Given the description of an element on the screen output the (x, y) to click on. 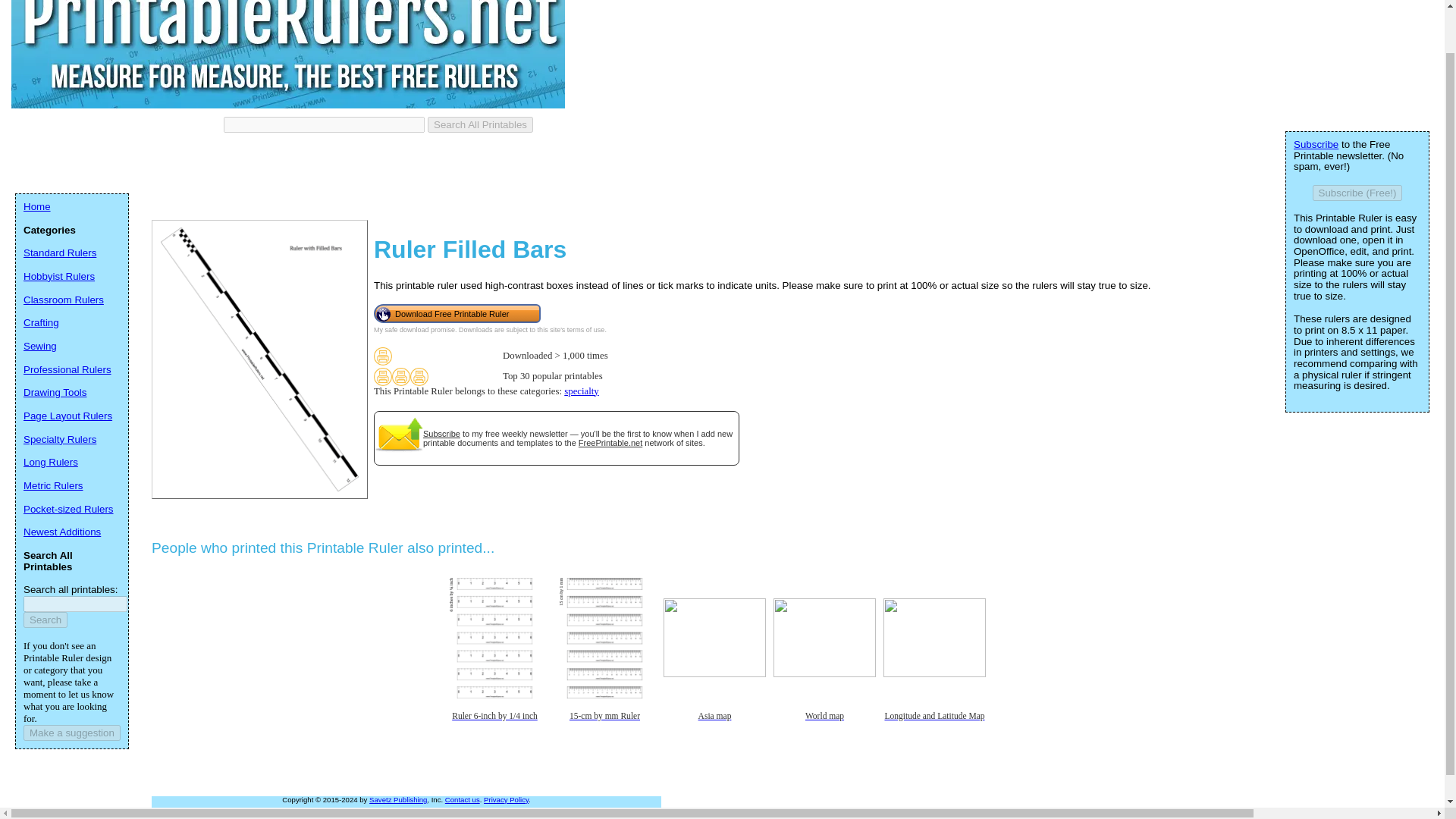
Crafting (41, 322)
Top 30 popular printables (382, 376)
Download Free Printable Ruler (457, 312)
Newest Additions (61, 531)
Page Layout Rulers (67, 415)
Subscribe (1316, 143)
Make a suggestion (71, 732)
Top 30 popular printables (400, 376)
World map (824, 727)
Metric Rulers (52, 485)
Search (44, 619)
Professional Rulers (67, 369)
Hobbyist Rulers (58, 276)
Longitude and Latitude Map (934, 727)
15-cm by mm Ruler (604, 727)
